Given the description of an element on the screen output the (x, y) to click on. 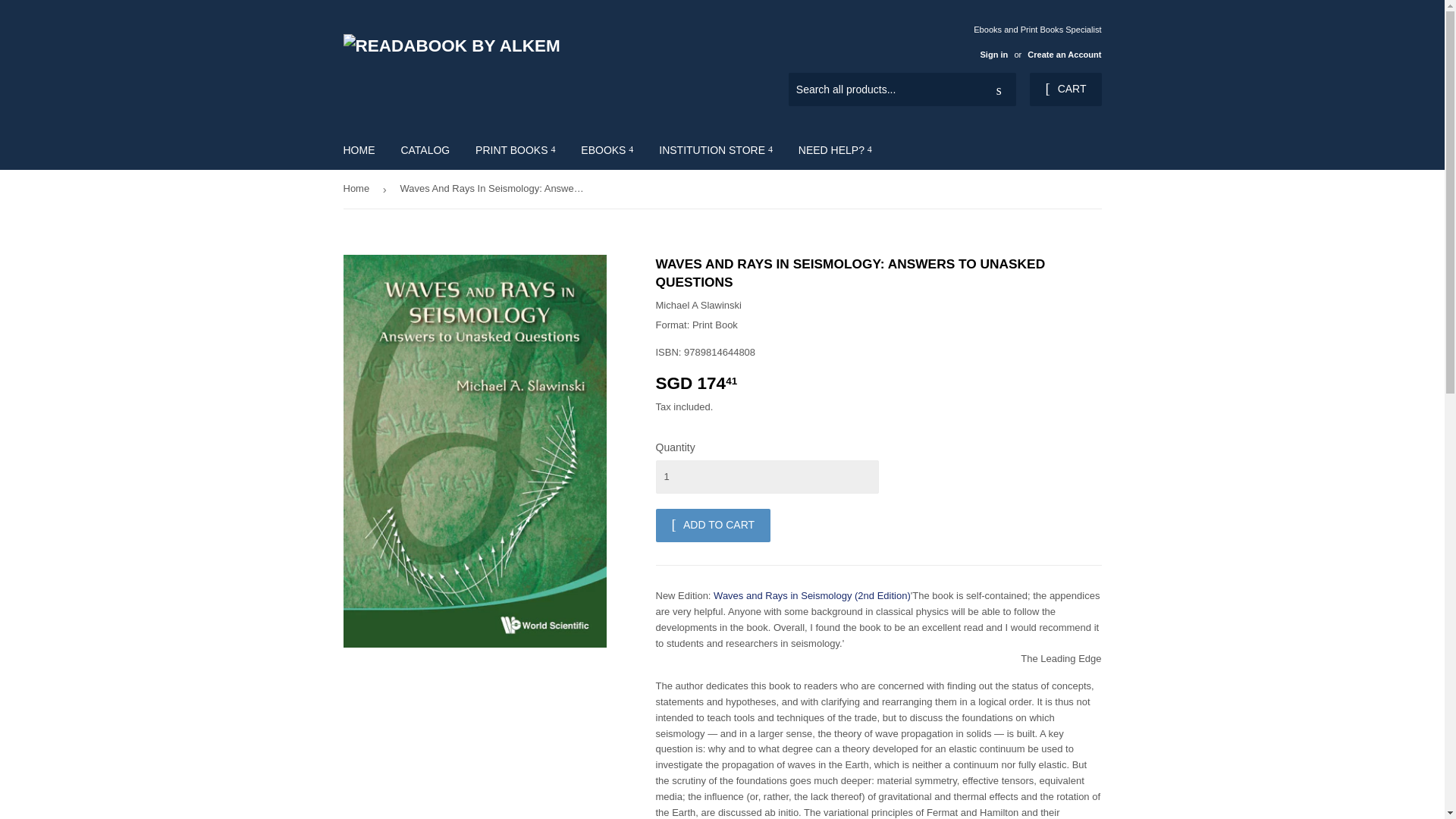
Search (998, 90)
Create an Account (1063, 53)
CART (1064, 89)
1 (766, 476)
Sign in (993, 53)
